Given the description of an element on the screen output the (x, y) to click on. 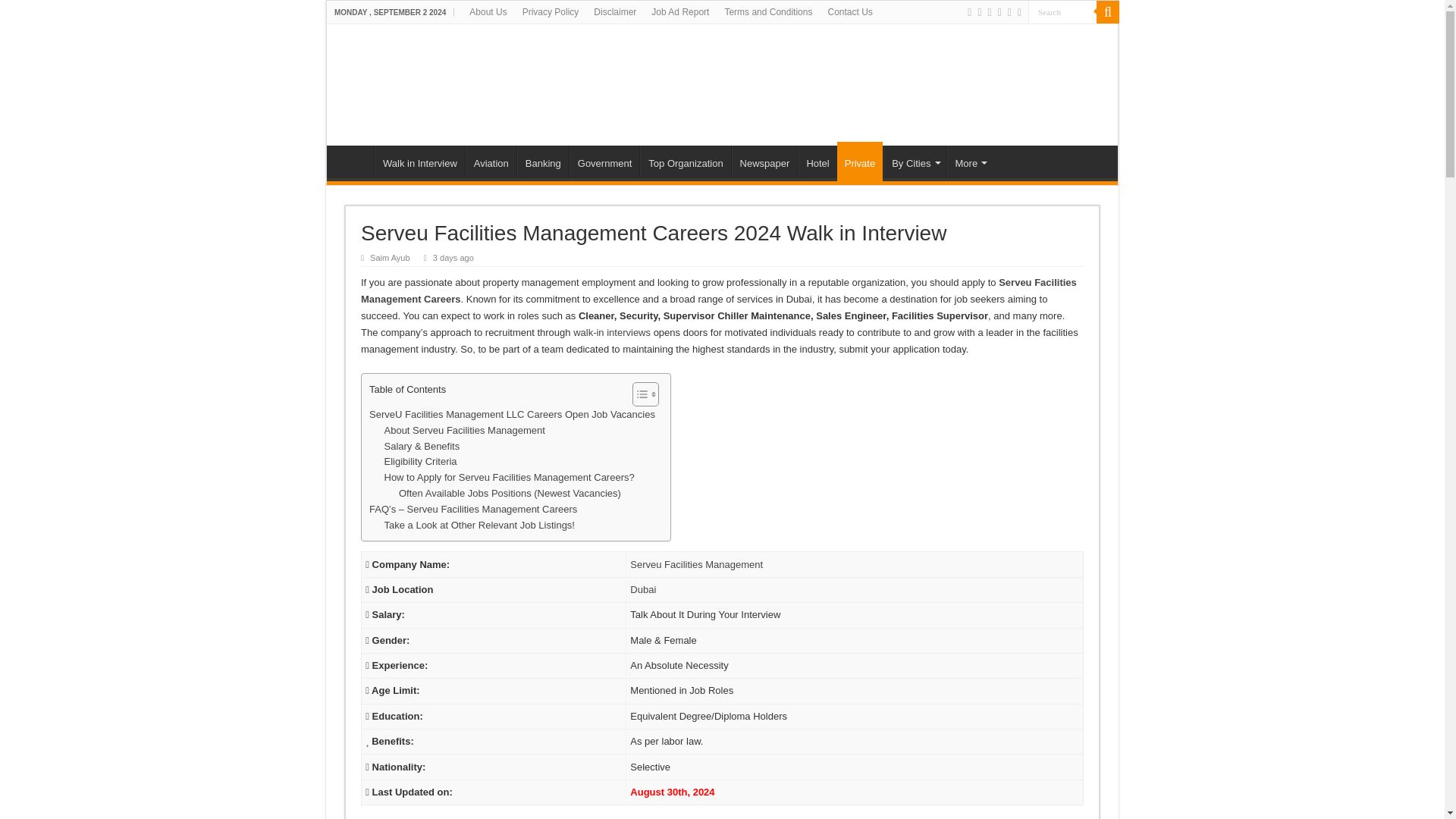
Newspaper (764, 161)
Private (859, 160)
Government (604, 161)
Home (354, 161)
Search (1061, 11)
About Us (487, 11)
Privacy Policy (550, 11)
Contact Us (849, 11)
Job Ad Report (679, 11)
More (969, 161)
